Given the description of an element on the screen output the (x, y) to click on. 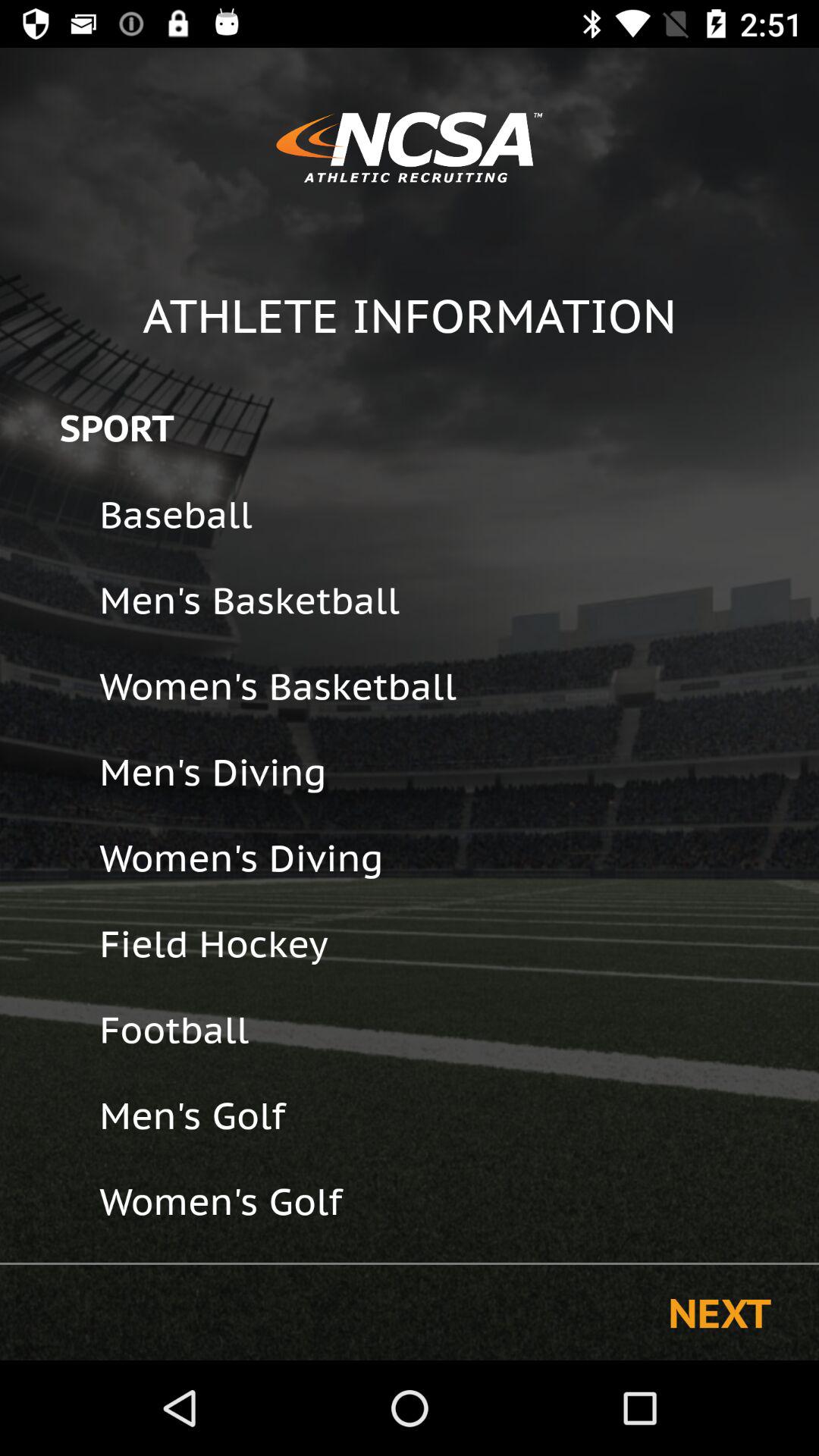
turn on baseball item (449, 514)
